Given the description of an element on the screen output the (x, y) to click on. 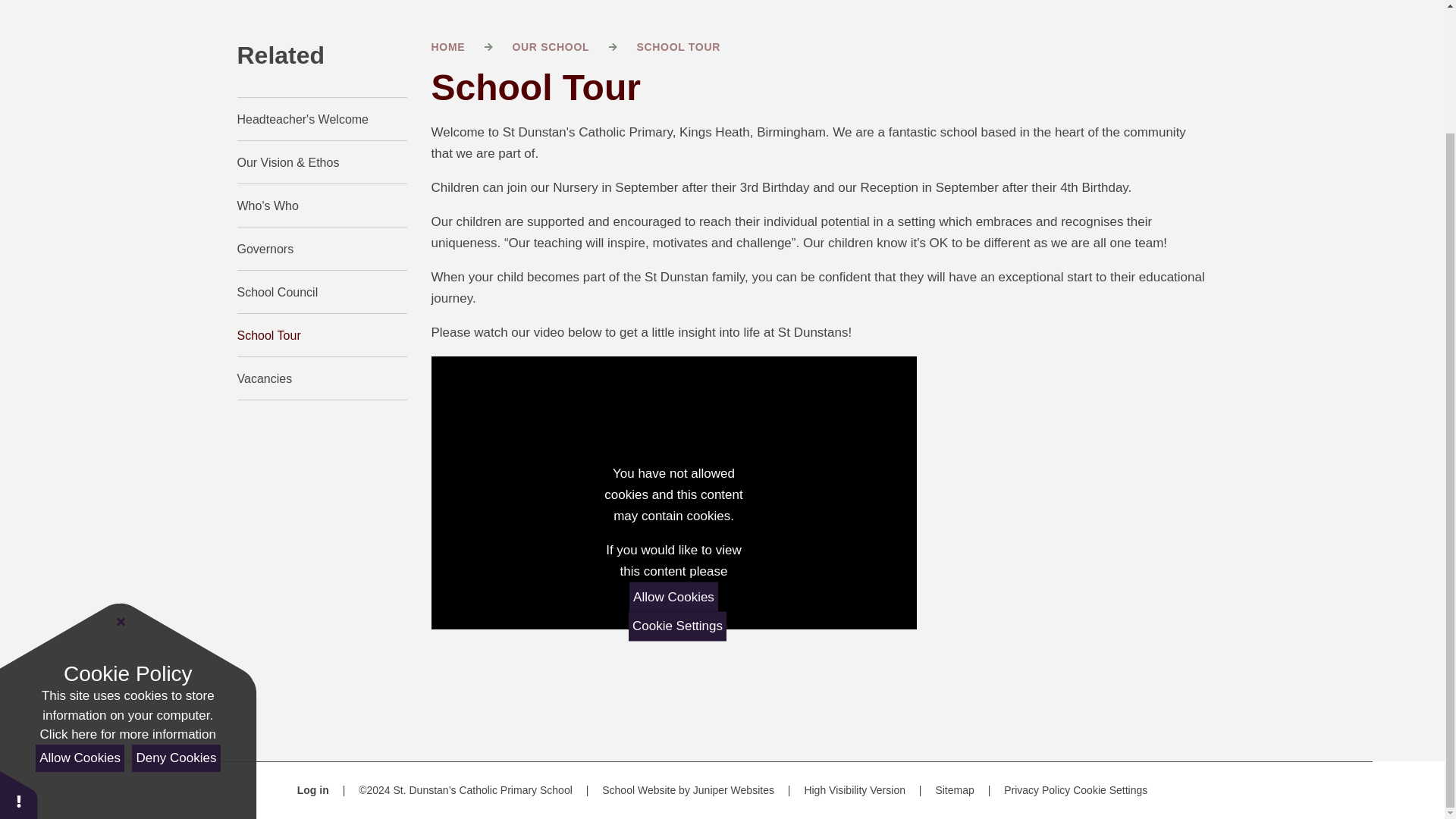
Allow Cookies (78, 610)
See cookie policy (127, 587)
Deny Cookies (175, 610)
Cookie Settings (1110, 789)
